Given the description of an element on the screen output the (x, y) to click on. 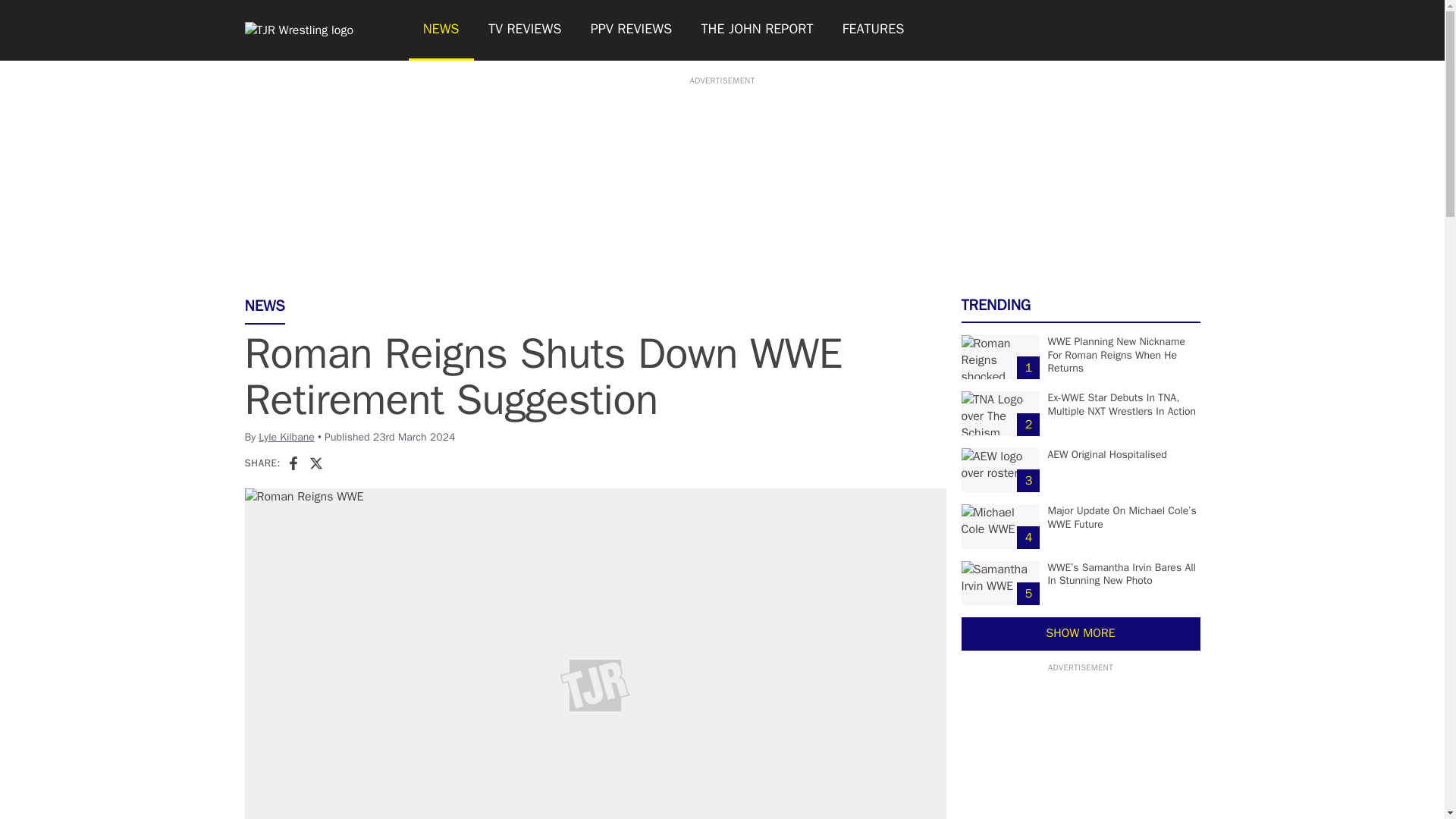
THE JOHN REPORT (756, 30)
NEWS (440, 30)
TV REVIEWS (525, 30)
X (315, 463)
X (315, 462)
FEATURES (873, 30)
Facebook (292, 463)
Lyle Kilbane (286, 436)
Facebook (292, 462)
PPV REVIEWS (631, 30)
